Given the description of an element on the screen output the (x, y) to click on. 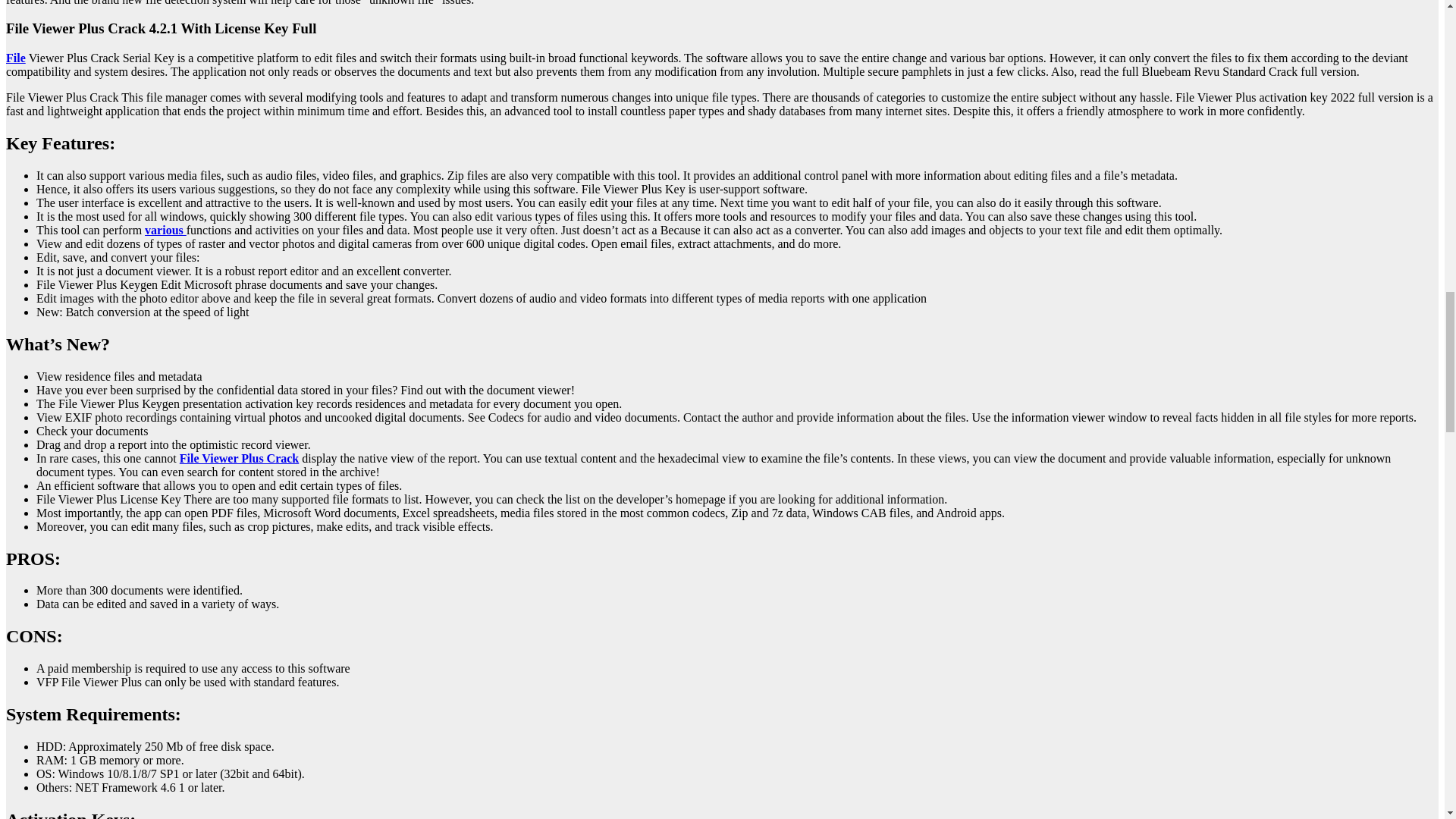
various  (165, 229)
File (15, 57)
File Viewer Plus Crack (238, 458)
